Given the description of an element on the screen output the (x, y) to click on. 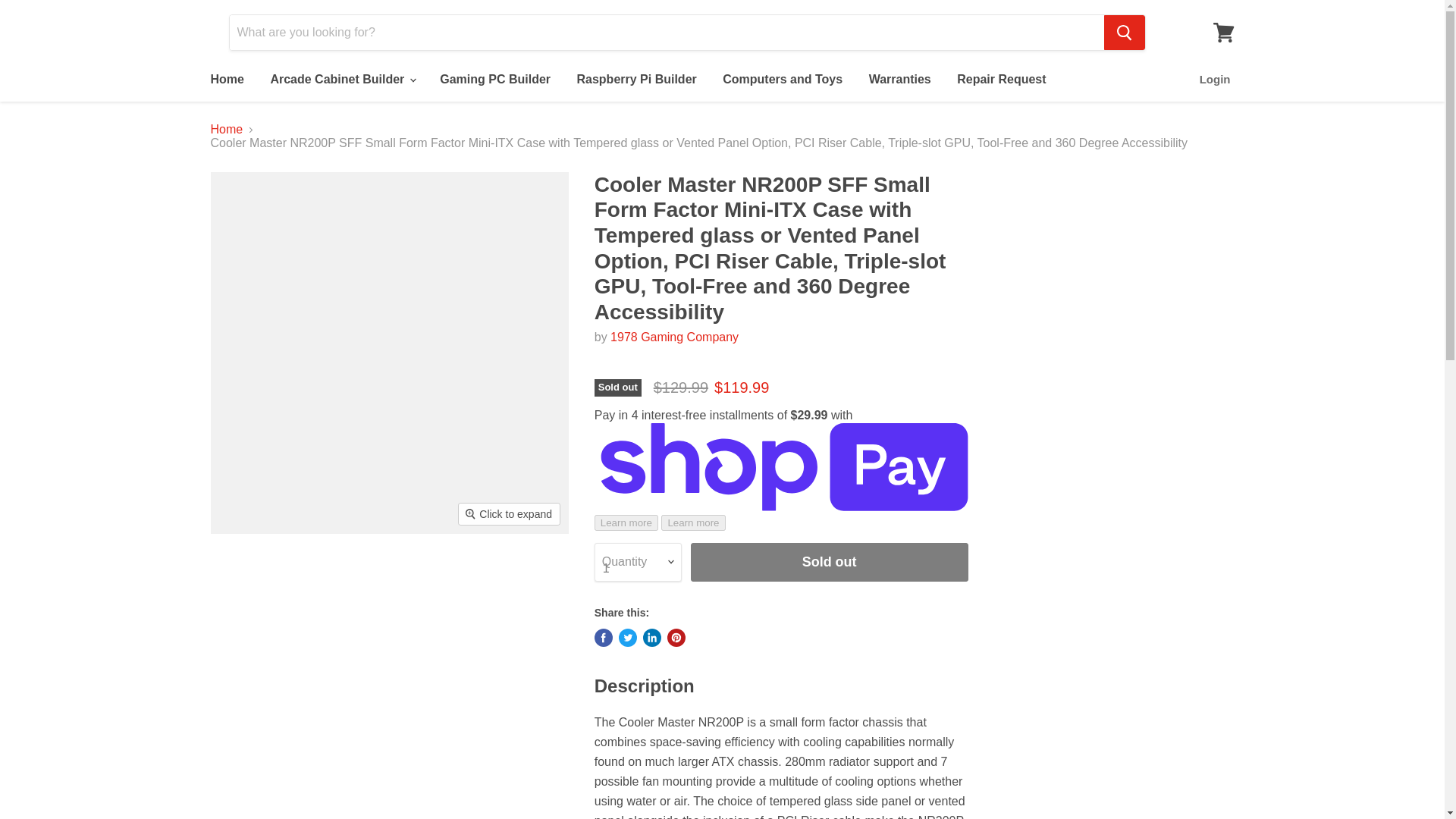
Arcade Cabinet Builder (342, 79)
Gaming PC Builder (495, 79)
Computers and Toys (782, 79)
Repair Request (1000, 79)
1978 Gaming Company (674, 336)
Login (1215, 79)
Warranties (899, 79)
Raspberry Pi Builder (635, 79)
Home (226, 79)
View cart (1223, 32)
